Given the description of an element on the screen output the (x, y) to click on. 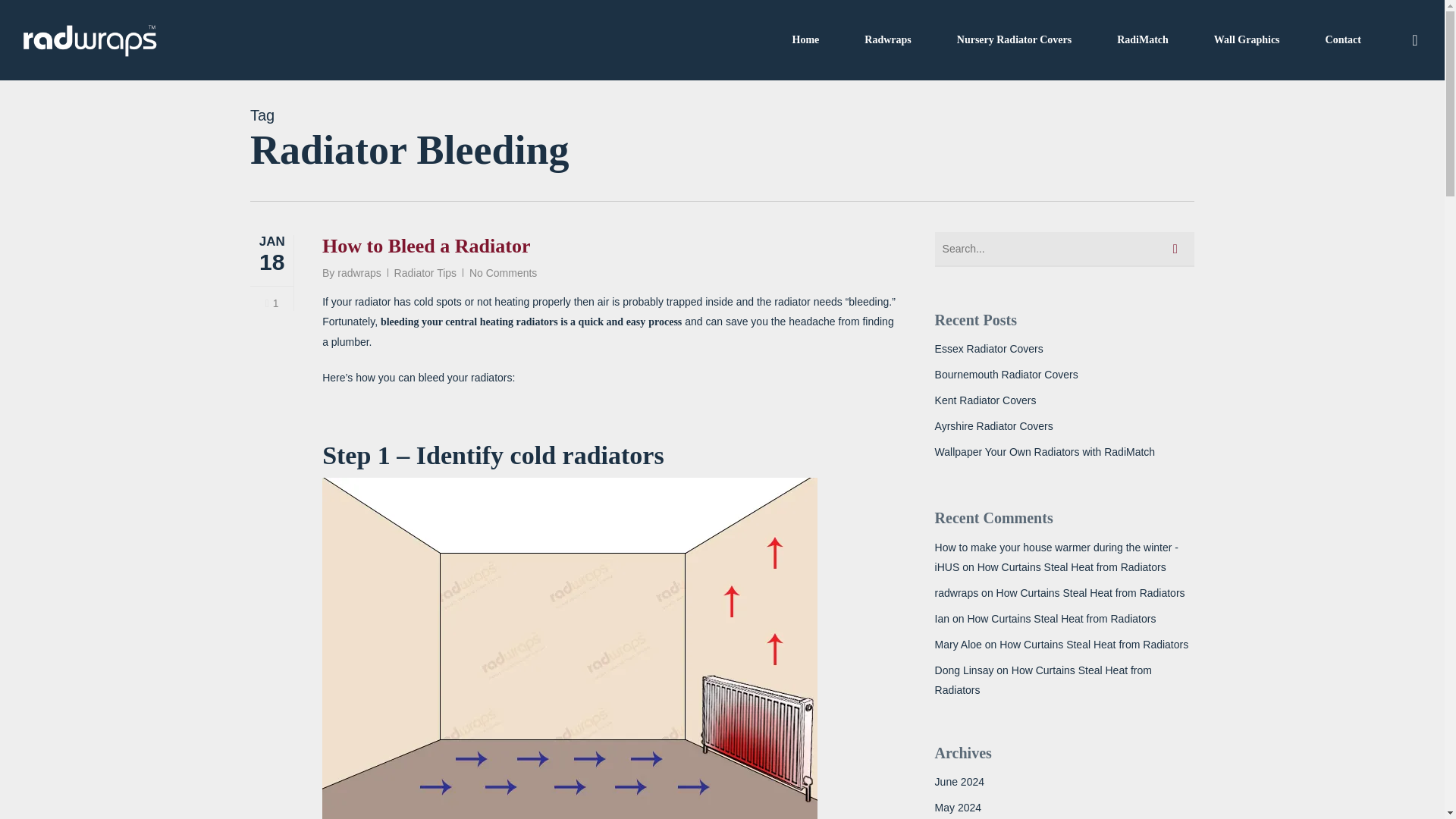
Essex Radiator Covers (1063, 348)
Wall Graphics (1246, 39)
RadiMatch (1142, 39)
Wallpaper Your Own Radiators with RadiMatch (1063, 451)
Kent Radiator Covers (1063, 400)
How to Bleed a Radiator (425, 246)
Nursery Radiator Covers (1013, 39)
No Comments (502, 272)
Bournemouth Radiator Covers (1063, 374)
Radwraps (887, 39)
Contact (1342, 39)
Search for: (1063, 248)
Home (805, 39)
Love this (271, 303)
radwraps (359, 272)
